Given the description of an element on the screen output the (x, y) to click on. 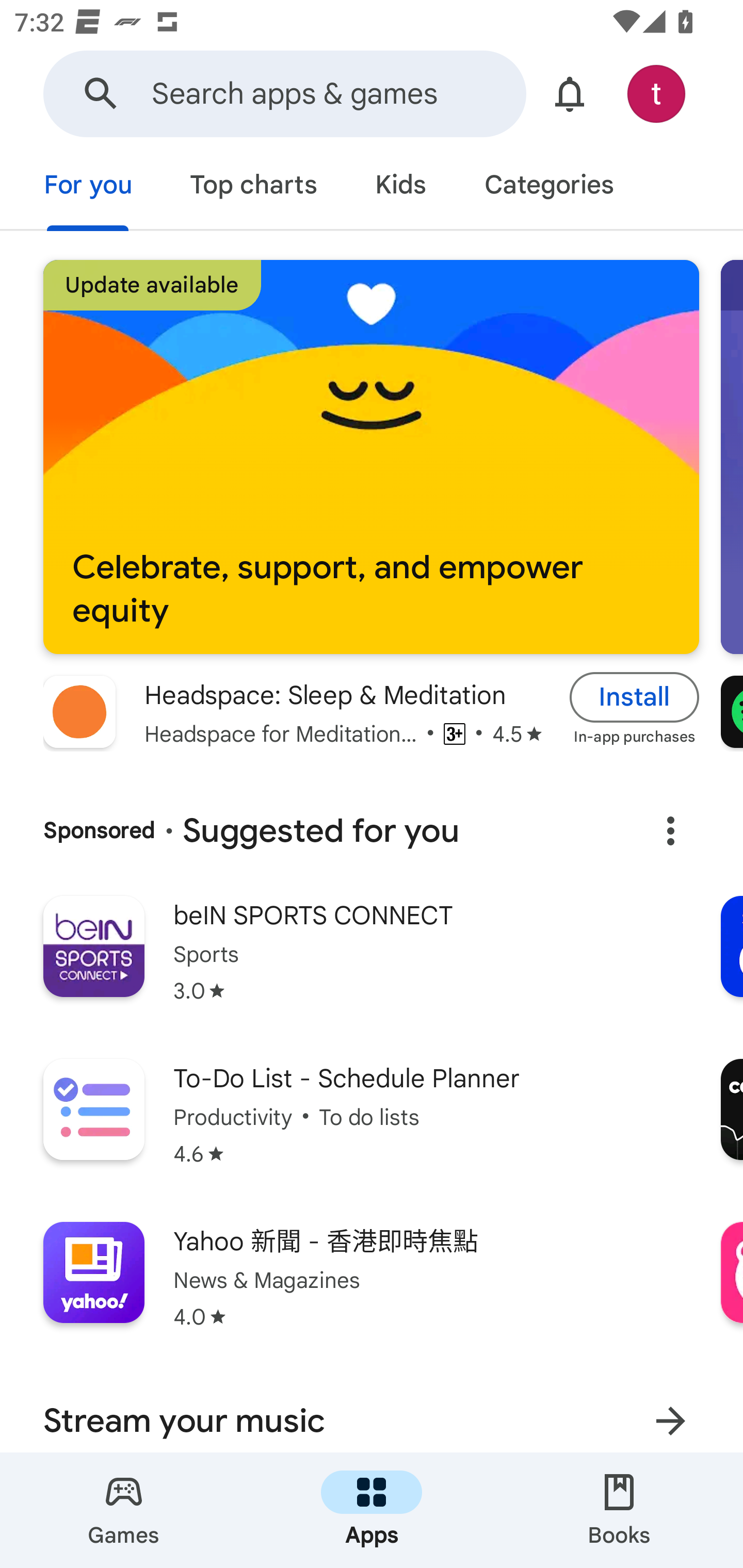
Search Google Play Search apps & games (284, 93)
Search Google Play (100, 93)
Show notifications and offers. (569, 93)
Top charts (253, 187)
Kids (400, 187)
Categories (548, 187)
Install (634, 696)
About this ad (670, 830)
beIN SPORTS CONNECT
Sports
Star rating: 3.0
 (371, 962)
More results for Stream your music (670, 1414)
Games (123, 1509)
Books (619, 1509)
